Given the description of an element on the screen output the (x, y) to click on. 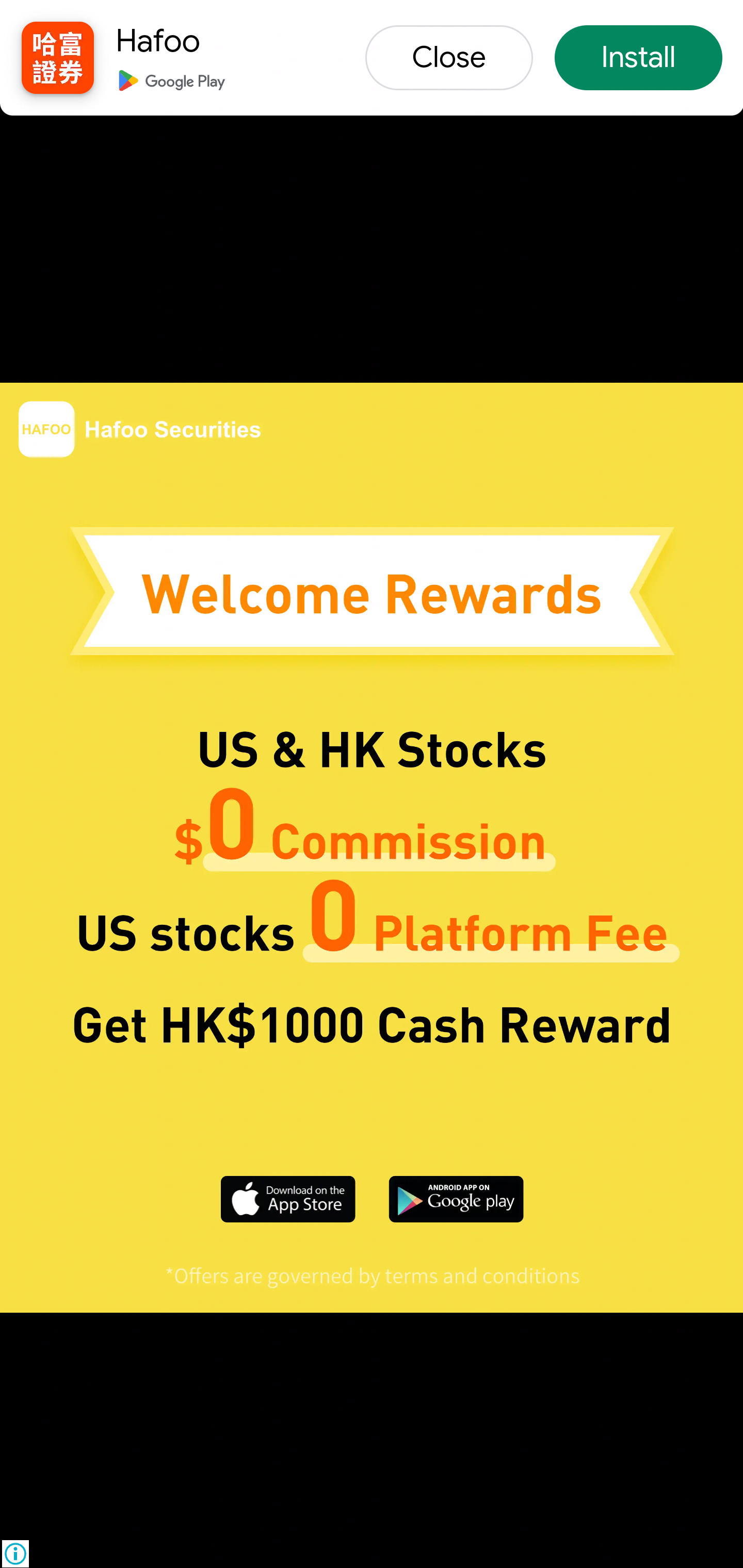
Close (449, 58)
Install (637, 58)
